Given the description of an element on the screen output the (x, y) to click on. 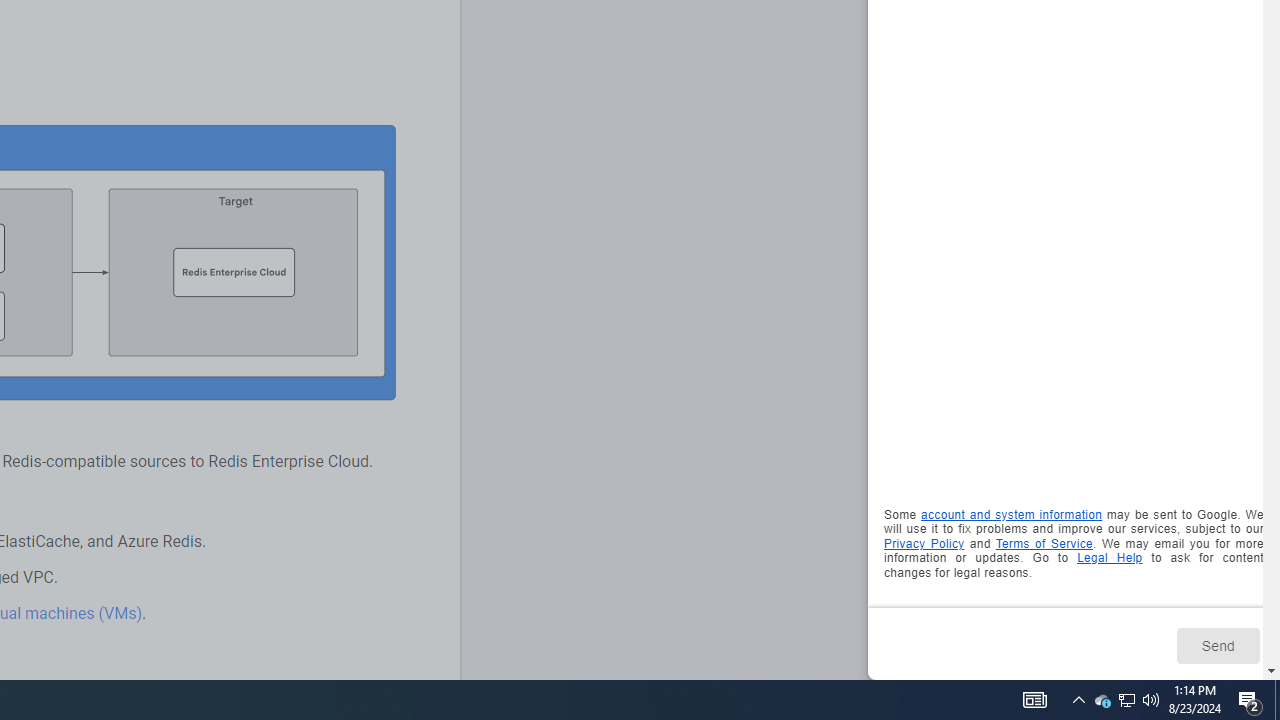
Opens in a new tab. Privacy Policy (924, 542)
Send (1217, 645)
account and system information (1012, 515)
Opens in a new tab. Legal Help (1109, 557)
Opens in a new tab. Terms of Service (1044, 542)
